Given the description of an element on the screen output the (x, y) to click on. 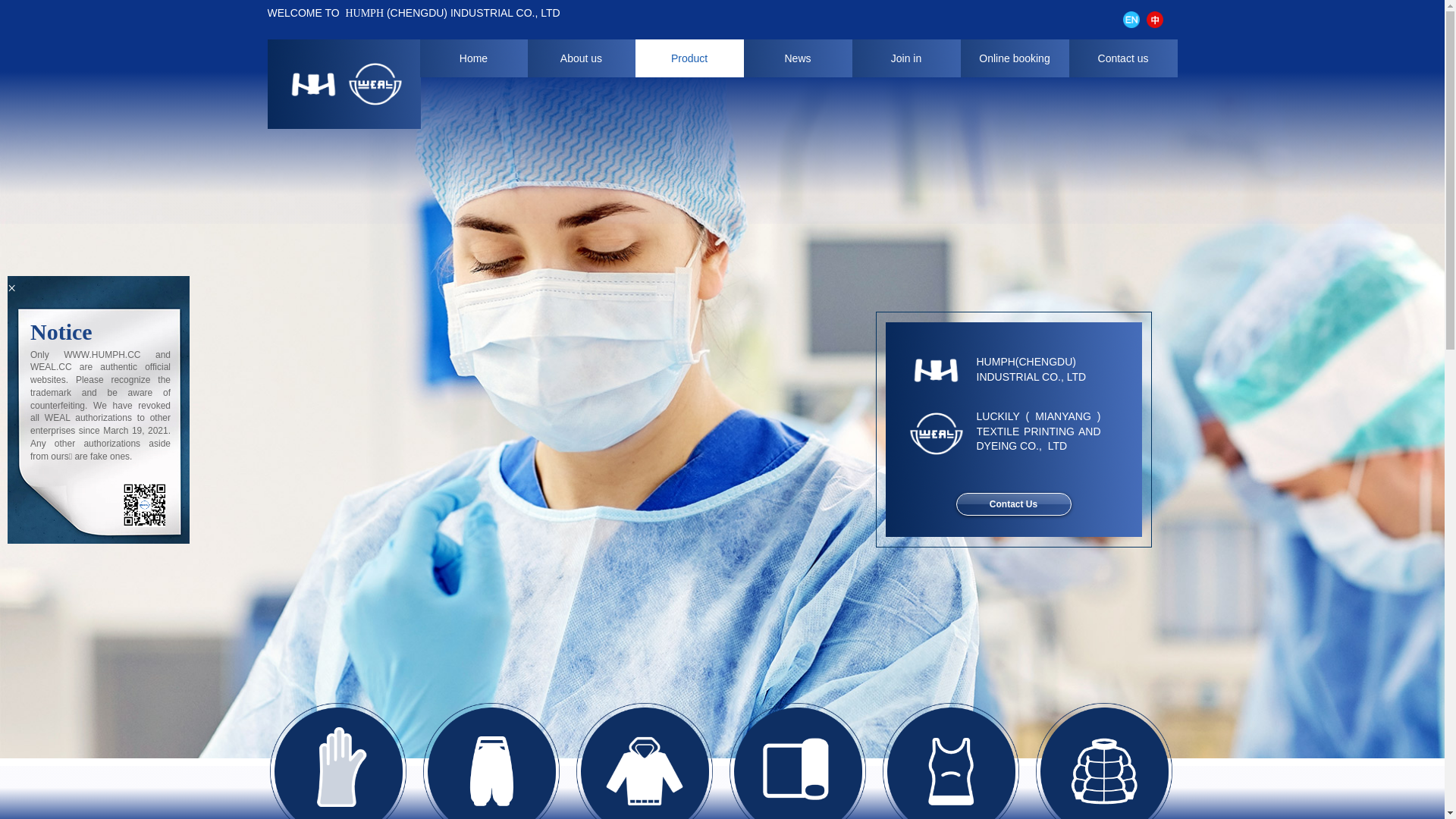
Contact Us Element type: text (1012, 503)
Join in Element type: text (906, 58)
Contact us Element type: text (1123, 58)
About us Element type: text (581, 58)
Online booking Element type: text (1014, 58)
Product Element type: text (689, 58)
Home Element type: text (473, 58)
News Element type: text (797, 58)
